Given the description of an element on the screen output the (x, y) to click on. 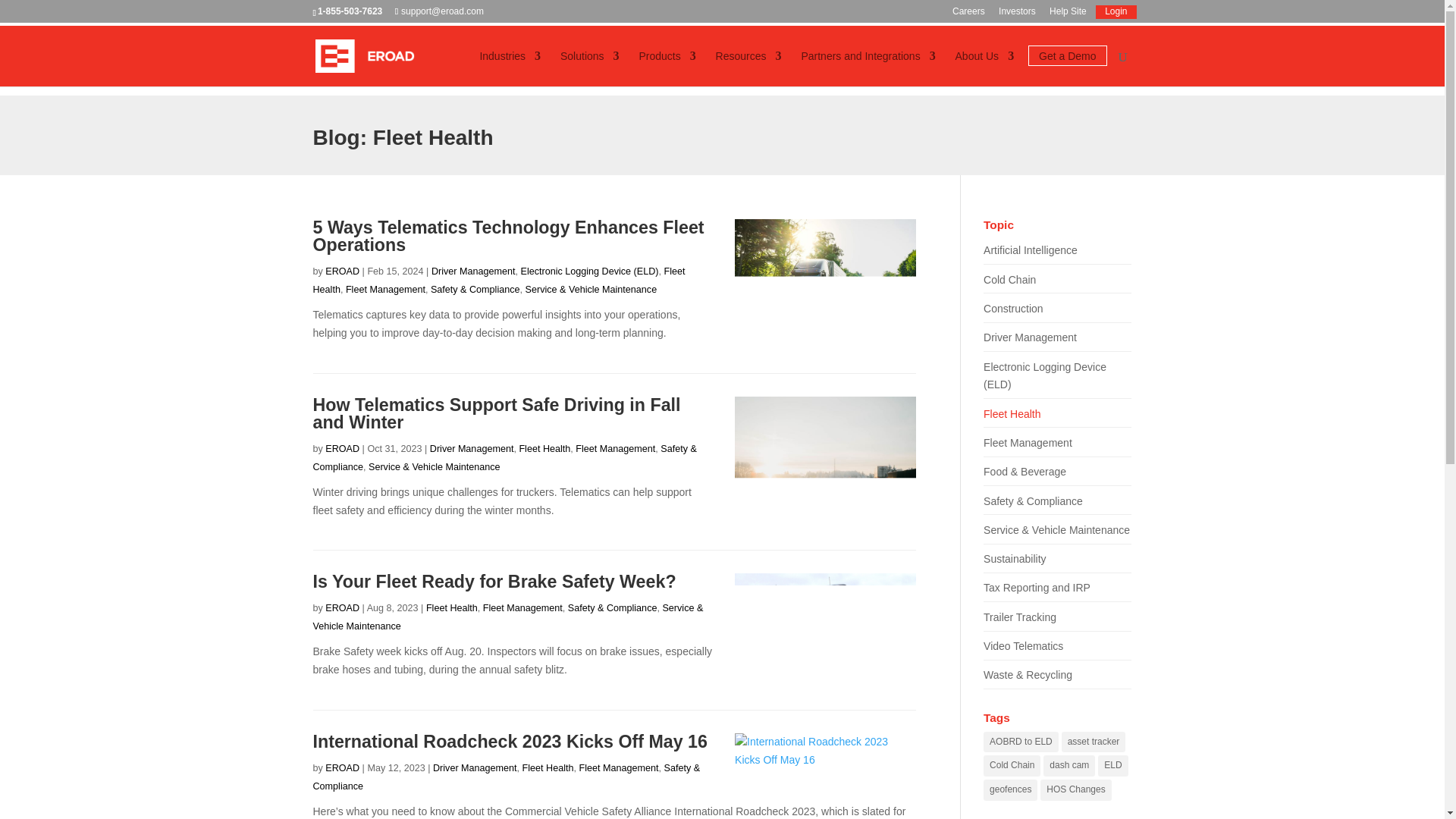
Posts by EROAD (341, 271)
Get a Demo (1066, 68)
Posts by EROAD (341, 448)
Partners and Integrations (867, 68)
Posts by EROAD (341, 607)
Careers (968, 14)
Login (1115, 14)
Products (667, 68)
Help Site (1067, 14)
About Us (984, 68)
Industries (509, 68)
Investors (1016, 14)
Posts by EROAD (341, 767)
Resources (748, 68)
Solutions (590, 68)
